Given the description of an element on the screen output the (x, y) to click on. 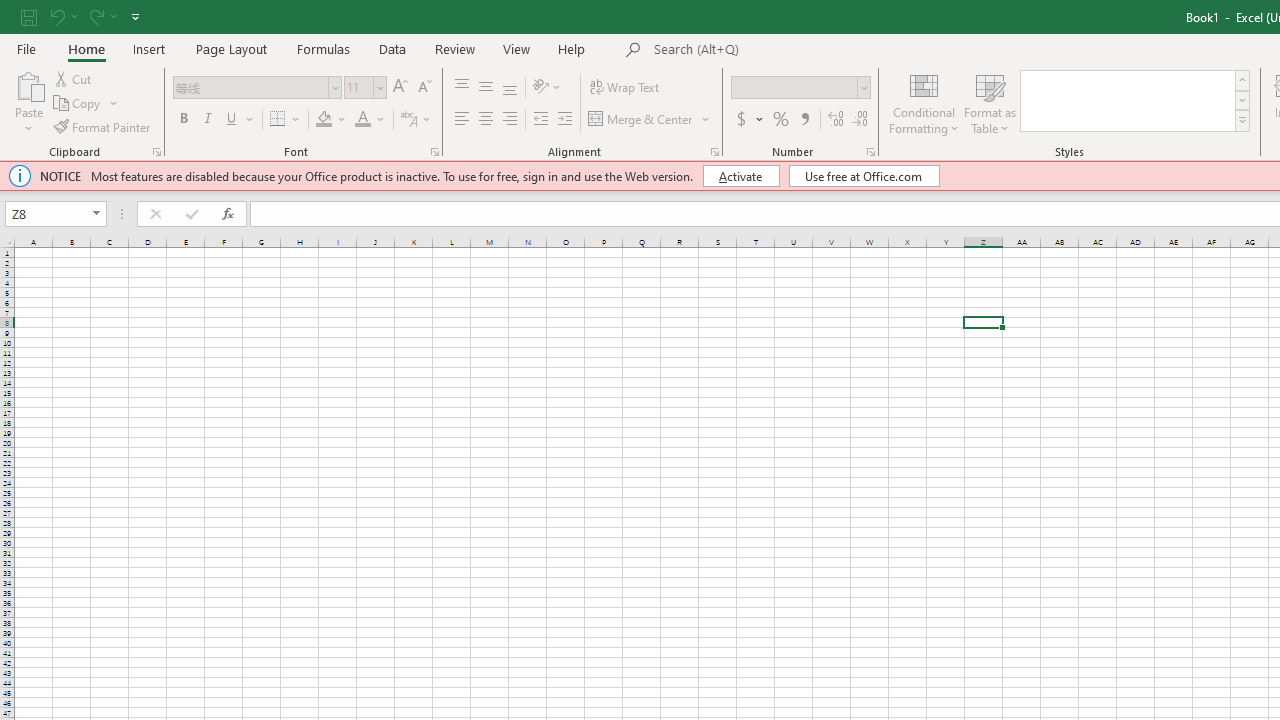
Bottom Align (509, 87)
Row up (1242, 79)
Format as Table (990, 102)
Accounting Number Format (749, 119)
Show Phonetic Field (416, 119)
Paste (28, 102)
Middle Align (485, 87)
Cell Styles (1242, 120)
Comma Style (804, 119)
Increase Decimal (836, 119)
Conditional Formatting (924, 102)
